Given the description of an element on the screen output the (x, y) to click on. 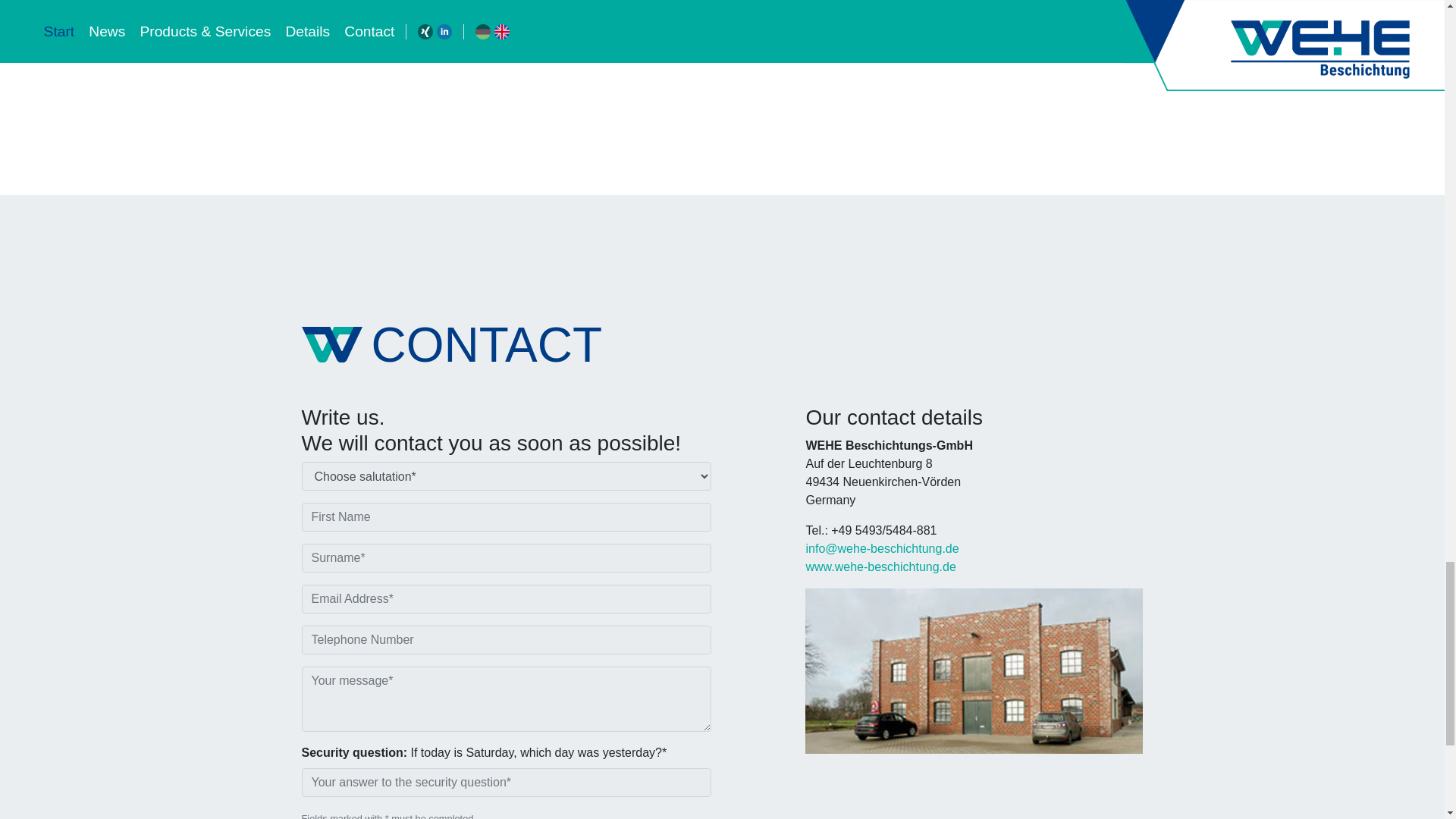
learn more (910, 23)
learn more (334, 23)
learn more (622, 23)
